Given the description of an element on the screen output the (x, y) to click on. 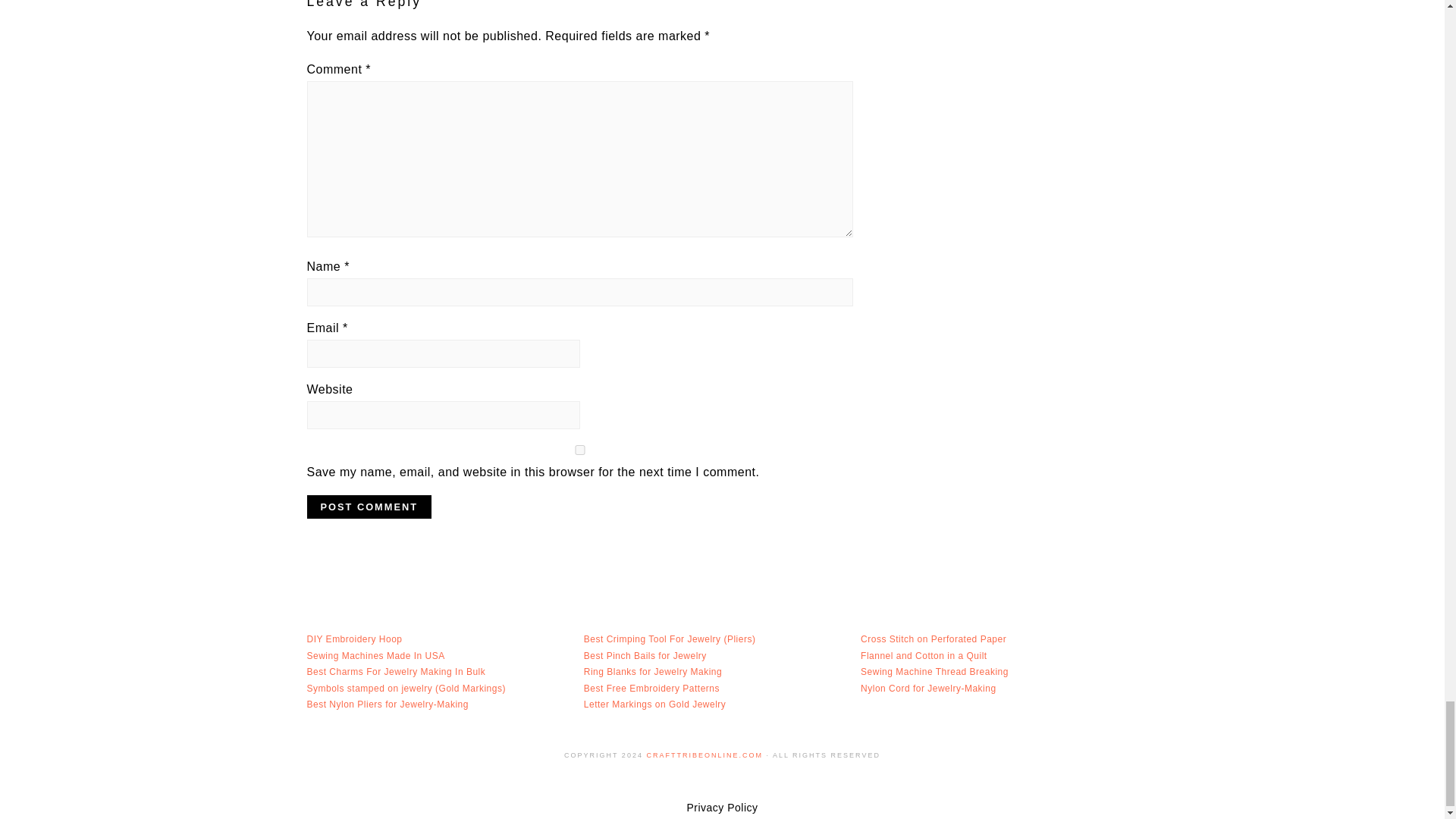
Post Comment (367, 506)
yes (578, 450)
